Given the description of an element on the screen output the (x, y) to click on. 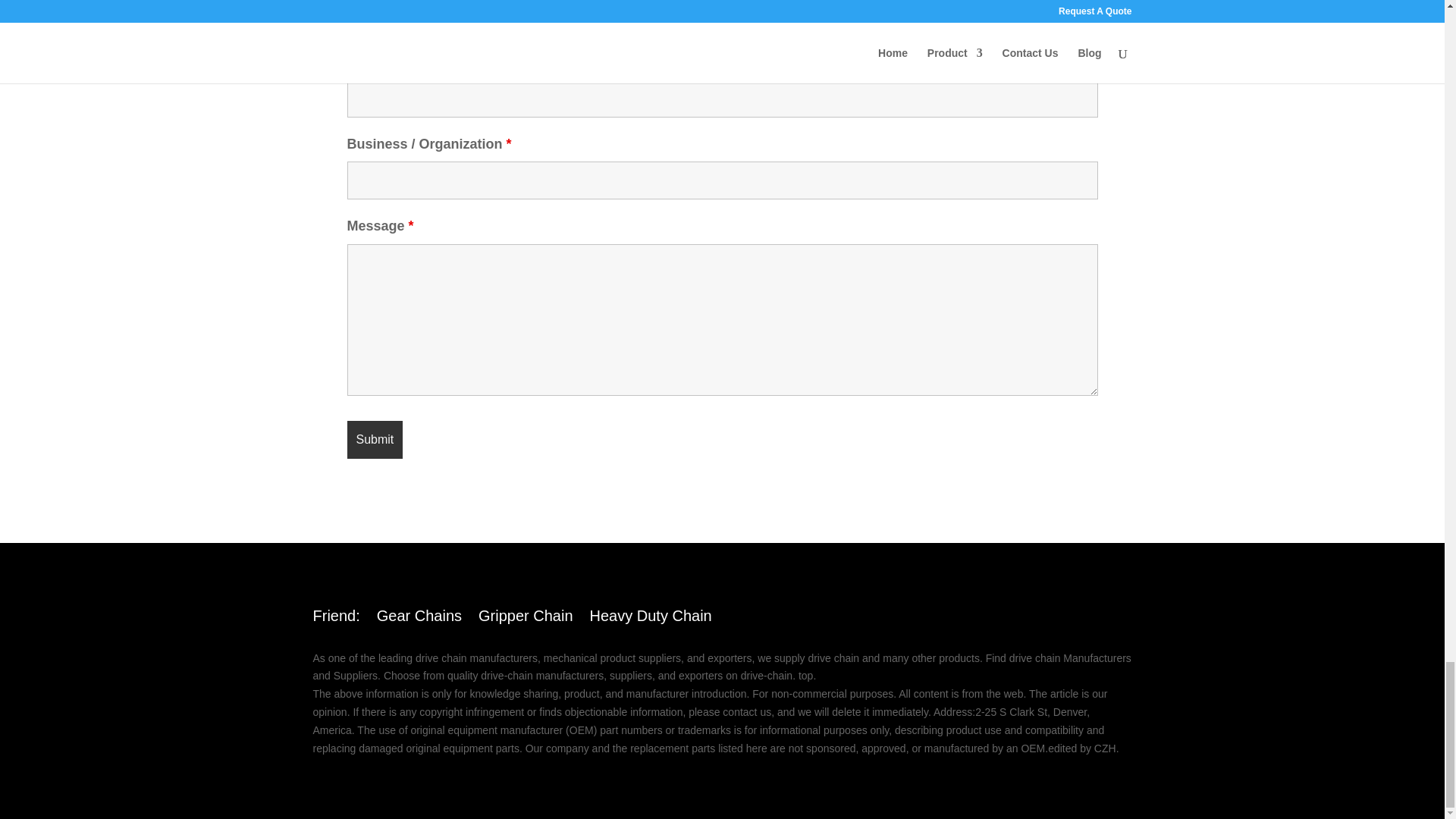
Submit (375, 439)
